Given the description of an element on the screen output the (x, y) to click on. 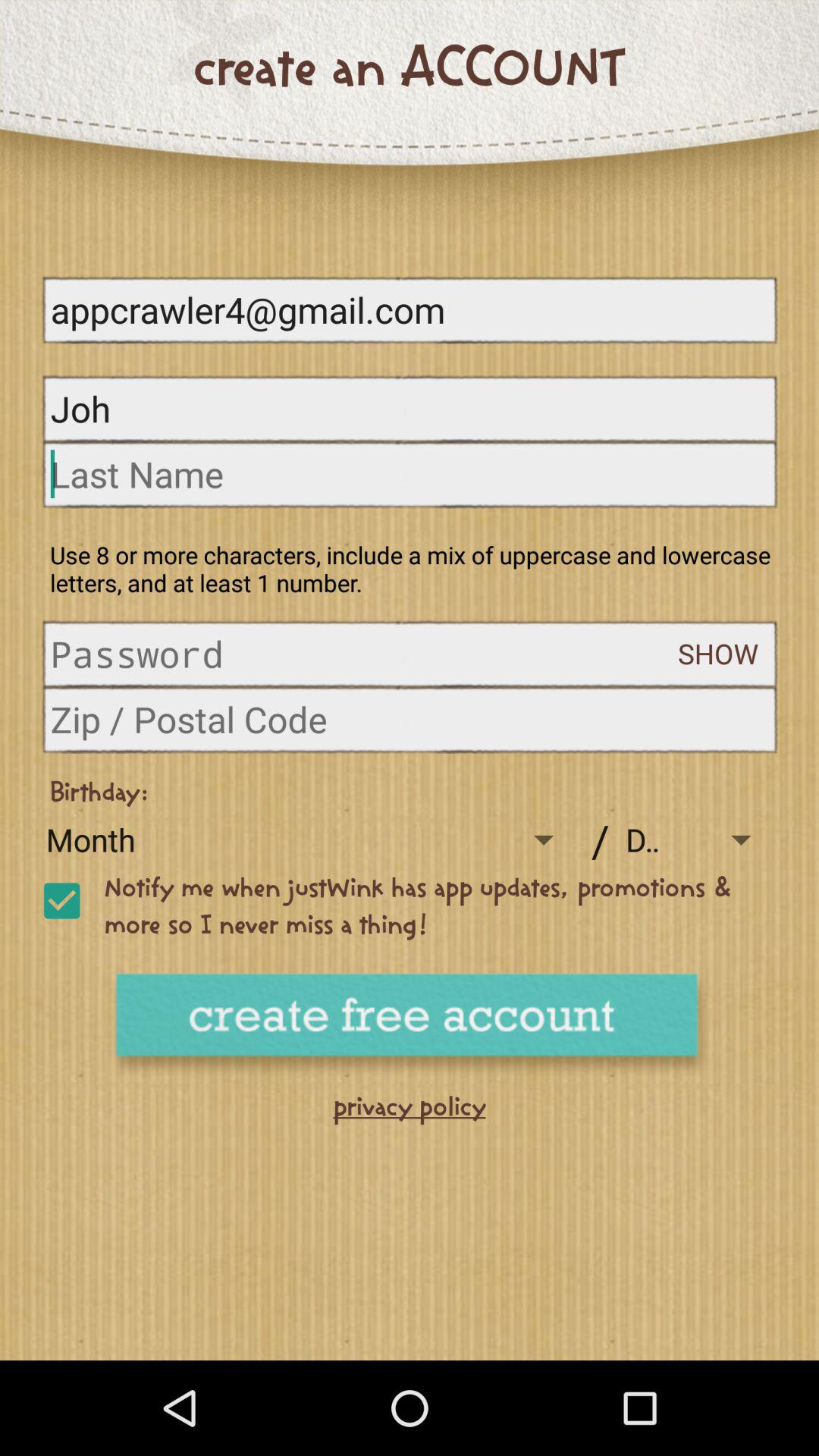
enter zip or postal code (409, 718)
